Given the description of an element on the screen output the (x, y) to click on. 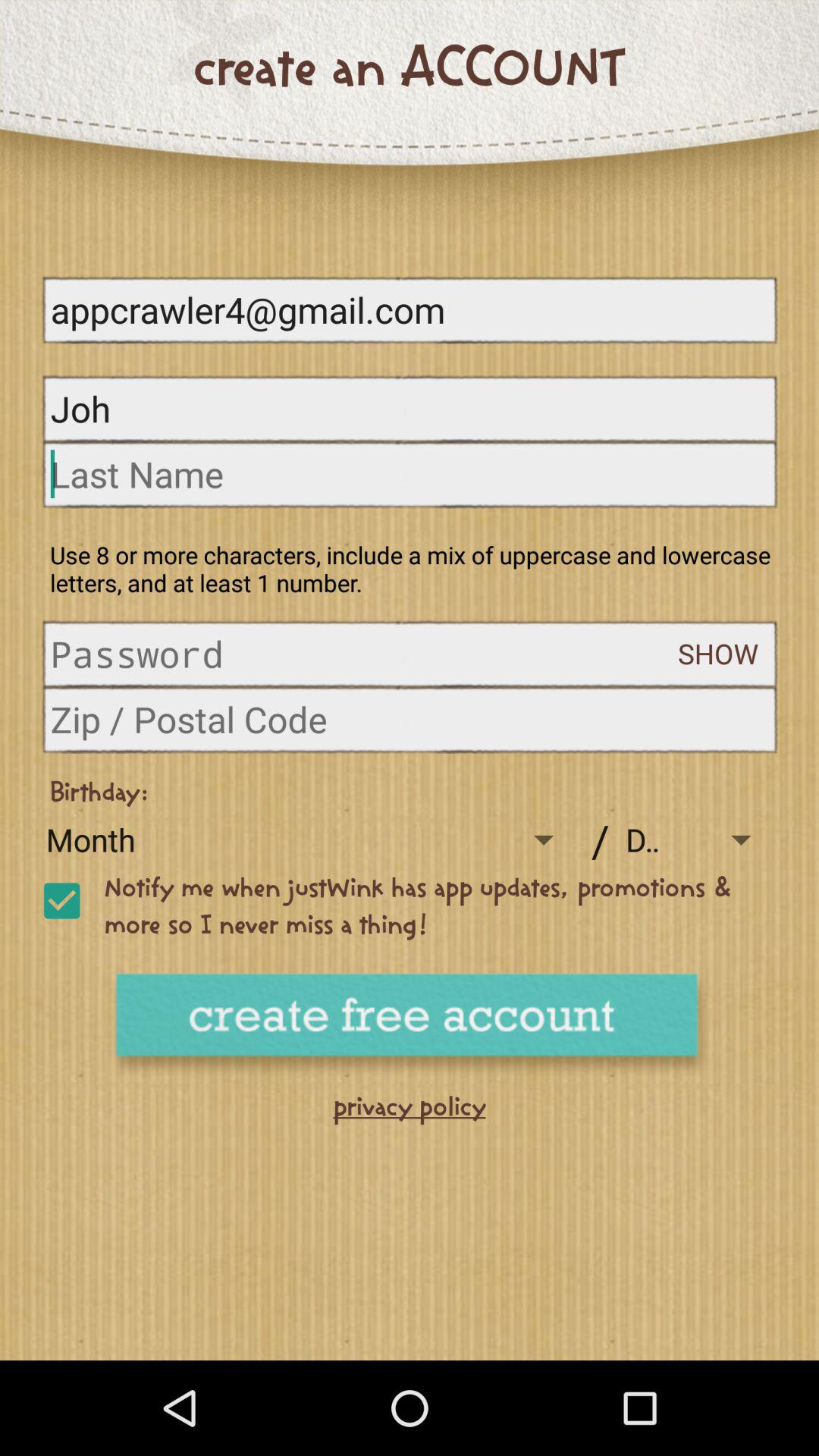
enter zip or postal code (409, 718)
